Given the description of an element on the screen output the (x, y) to click on. 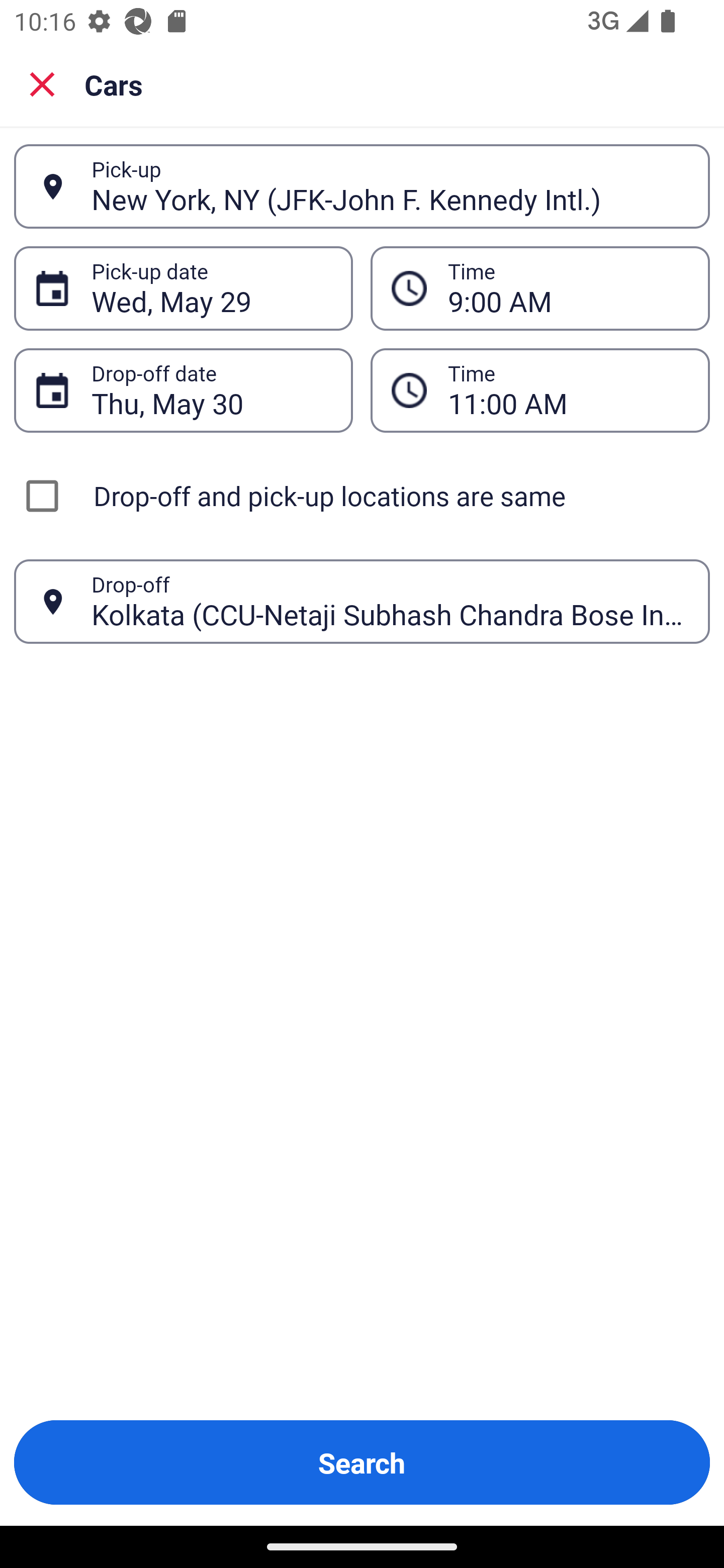
Close search screen (41, 83)
New York, NY (JFK-John F. Kennedy Intl.) Pick-up (361, 186)
New York, NY (JFK-John F. Kennedy Intl.) (389, 186)
Wed, May 29 Pick-up date (183, 288)
9:00 AM (540, 288)
Wed, May 29 (211, 288)
9:00 AM (568, 288)
Thu, May 30 Drop-off date (183, 390)
11:00 AM (540, 390)
Thu, May 30 (211, 390)
11:00 AM (568, 390)
Drop-off and pick-up locations are same (361, 495)
Kolkata (CCU-Netaji Subhash Chandra Bose Intl.) (389, 601)
Search Button Search (361, 1462)
